Given the description of an element on the screen output the (x, y) to click on. 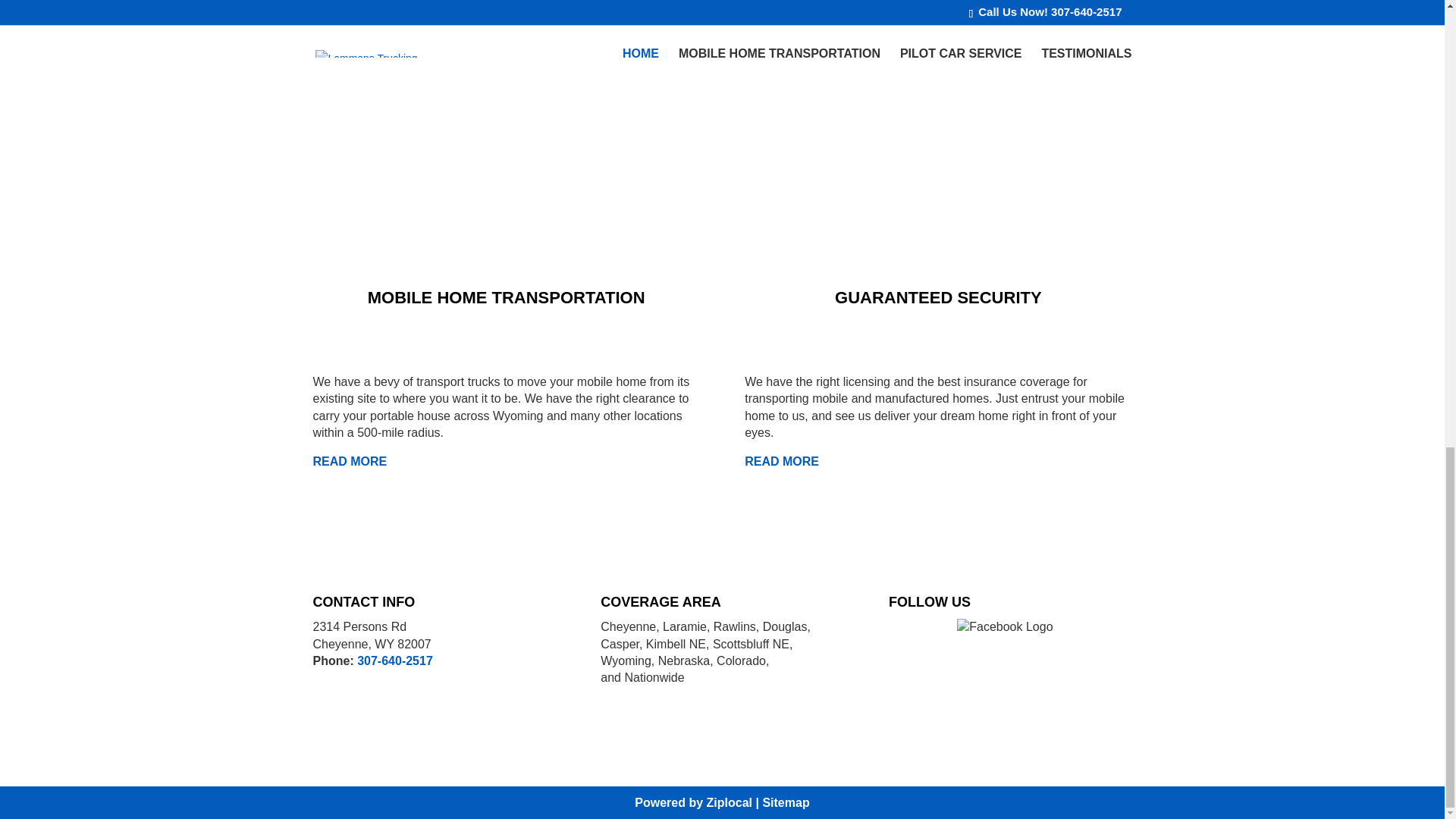
Sitemap (785, 802)
READ MORE (781, 461)
READ MORE  (351, 461)
Powered by Ziplocal (693, 802)
307-640-2517 (394, 660)
